Given the description of an element on the screen output the (x, y) to click on. 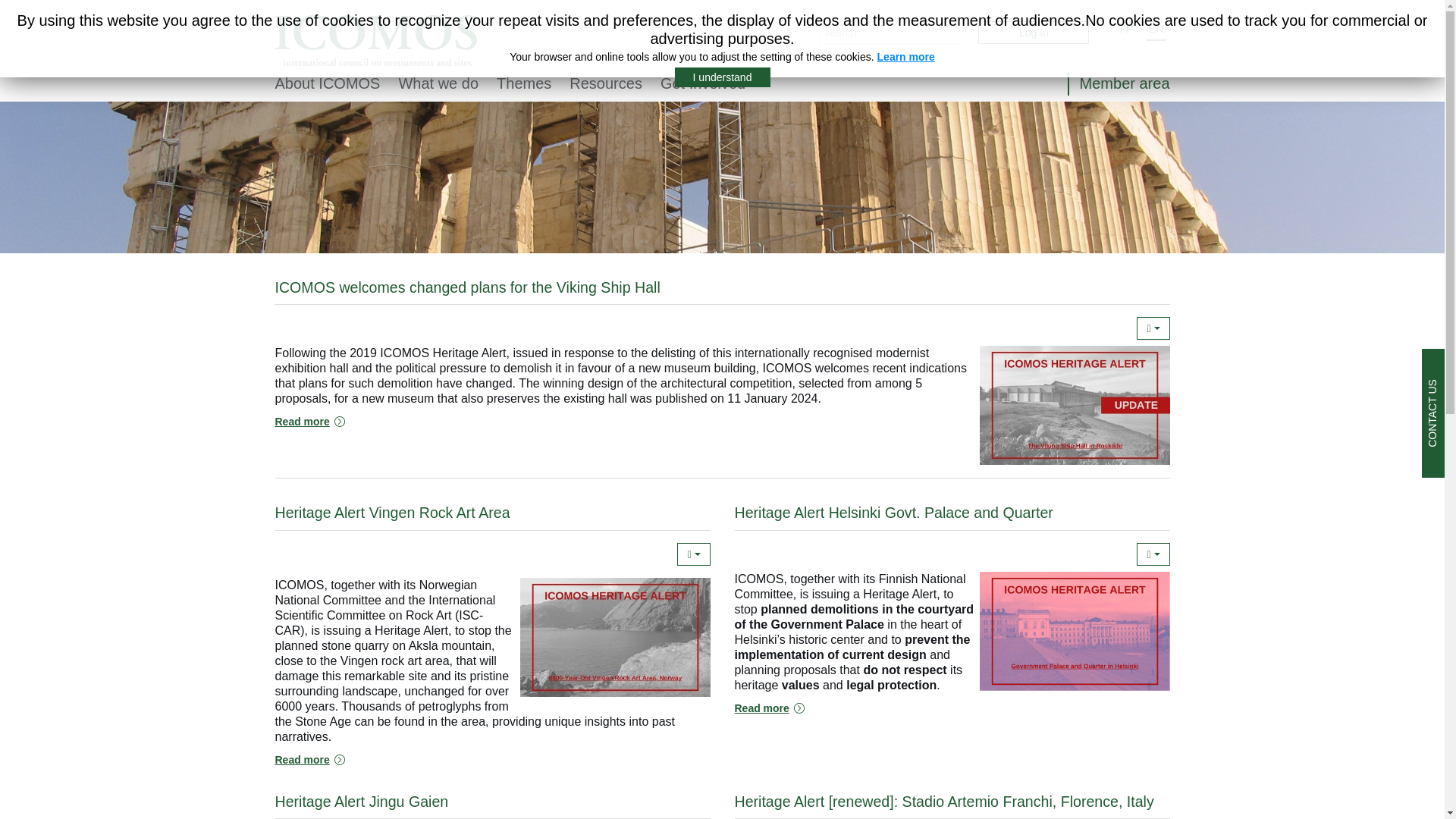
Heritage Alert Vingen Rock Art Area (309, 759)
FR (1127, 28)
Heritage Alert Helsinki Govt. Palace and Quarter (768, 708)
What we do (438, 83)
ICOMOS welcomes changed plans for the Viking Ship Hall (309, 421)
ICOMOS welcomes changed plans for the Viking Ship Hall (467, 287)
Heritage Alert Helsinki Govt. Palace and Quarter (892, 512)
Heritage Alert Vingen Rock Art Area (392, 512)
Log In (1033, 32)
Heritage Alert Jingu Gaien (361, 801)
